Given the description of an element on the screen output the (x, y) to click on. 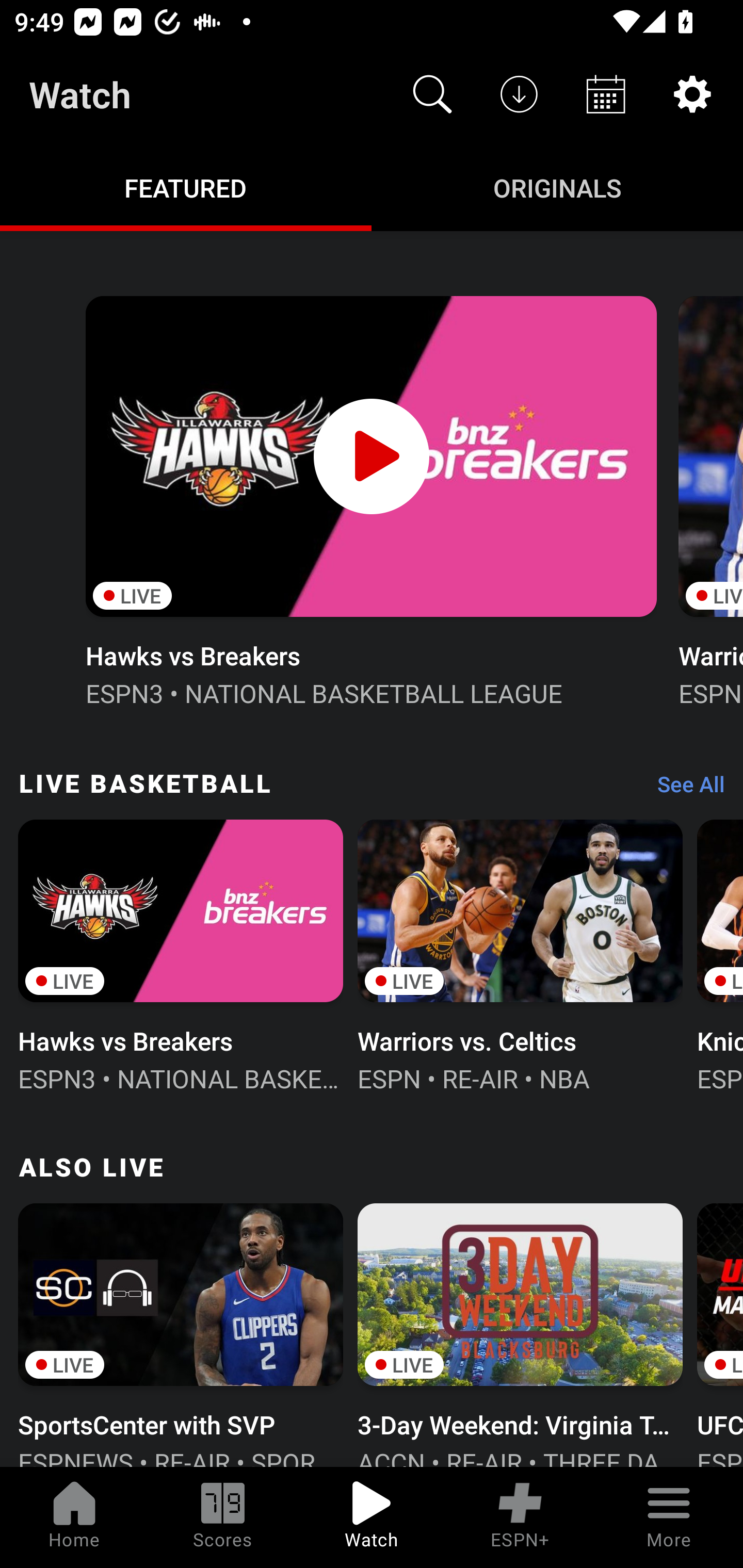
Search (432, 93)
Downloads (518, 93)
Schedule (605, 93)
Settings (692, 93)
Originals ORIGINALS (557, 187)
See All (683, 788)
LIVE Warriors vs. Celtics ESPN • RE-AIR • NBA (519, 954)
Home (74, 1517)
Scores (222, 1517)
ESPN+ (519, 1517)
More (668, 1517)
